Given the description of an element on the screen output the (x, y) to click on. 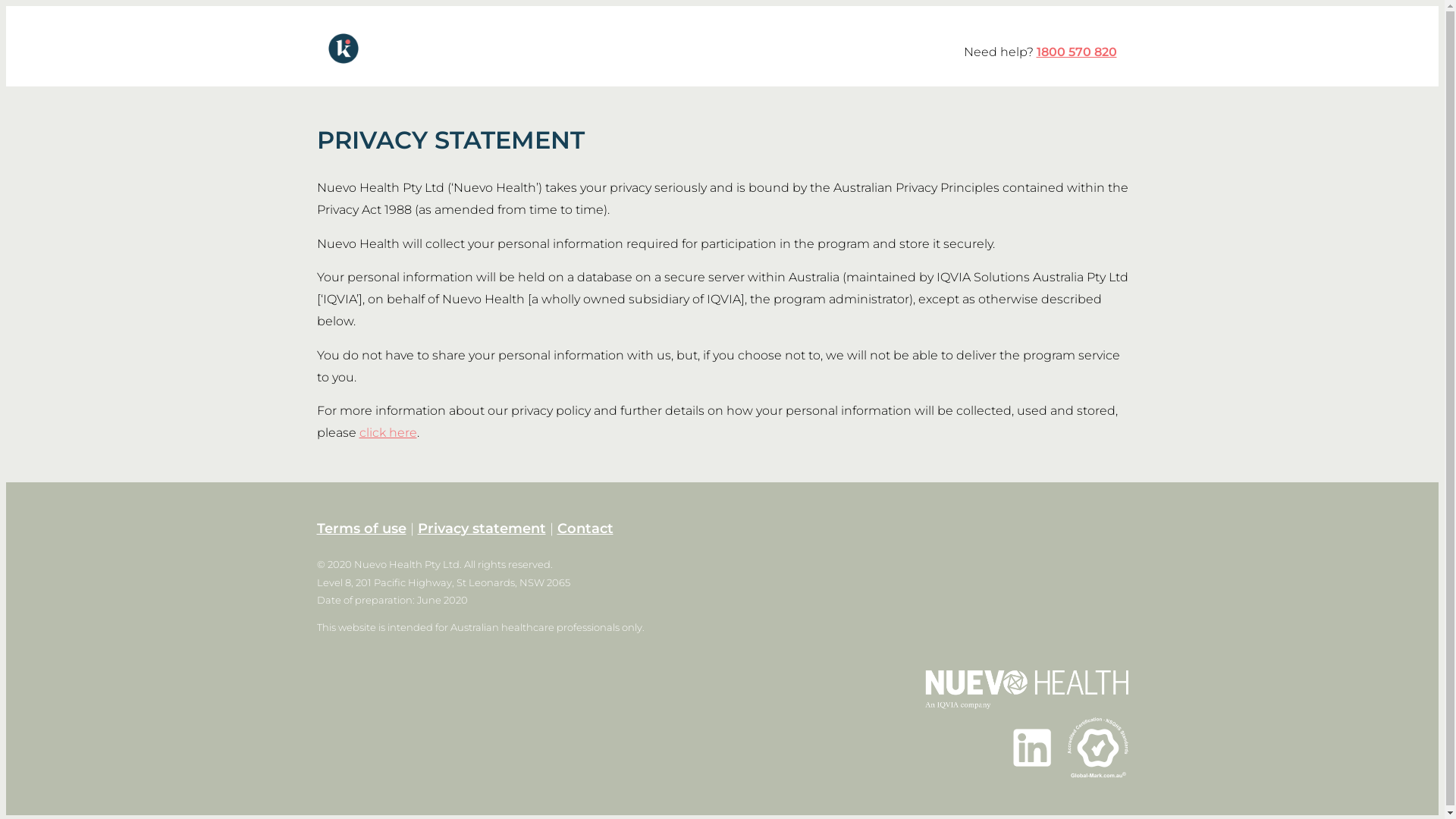
1800 570 820 Element type: text (1075, 51)
Contact Element type: text (584, 528)
click here Element type: text (388, 432)
Skip to main content Element type: text (68, 6)
Terms of use Element type: text (361, 528)
Privacy statement Element type: text (481, 528)
